Given the description of an element on the screen output the (x, y) to click on. 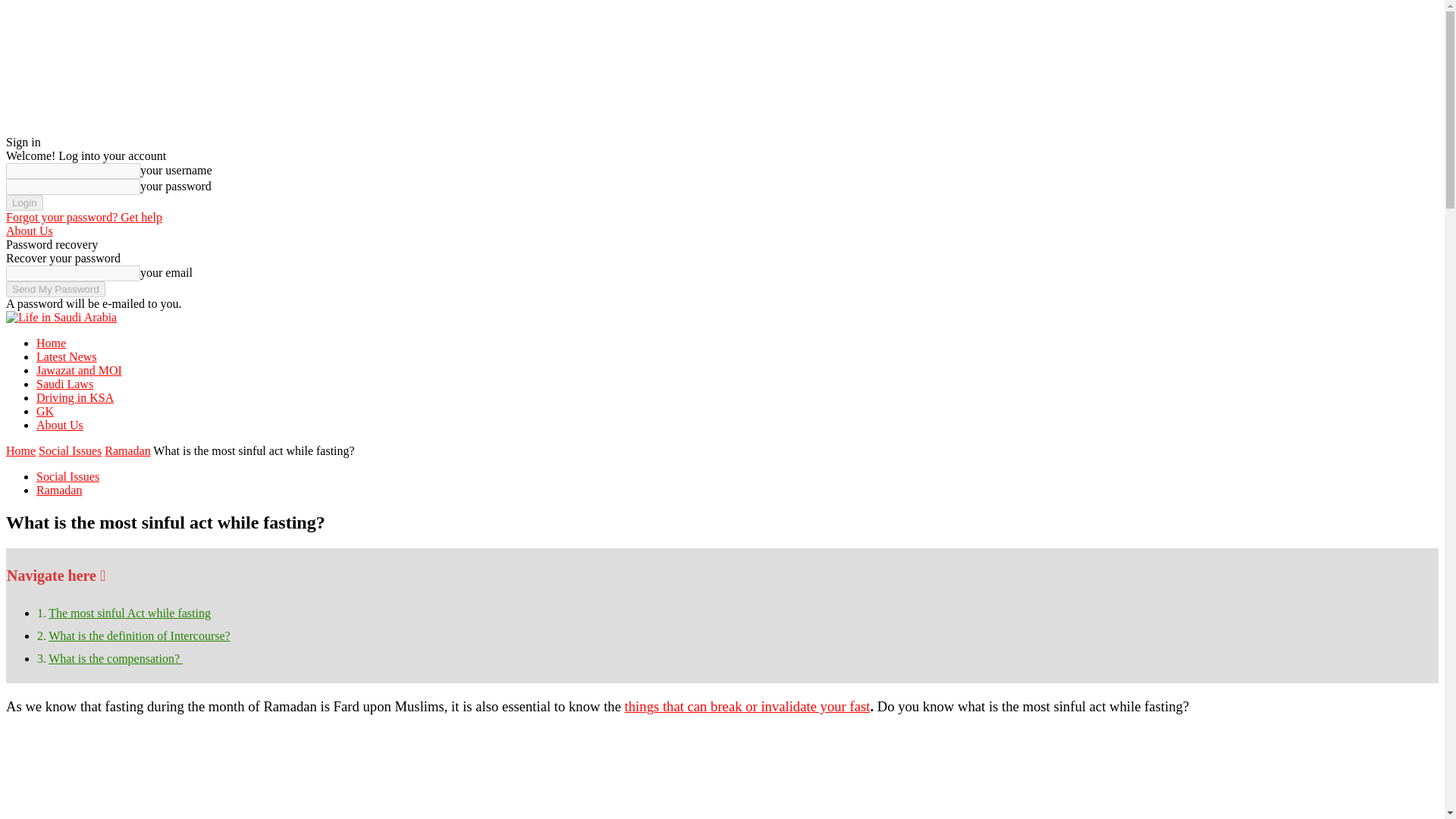
Ramadan (126, 450)
Saudi Laws (64, 383)
About Us (28, 230)
Send My Password (54, 289)
Social Issues (67, 476)
About Us (59, 424)
Driving in KSA (74, 397)
What is the definition of Intercourse? (139, 635)
View all posts in Ramadan (126, 450)
Login (24, 202)
